Given the description of an element on the screen output the (x, y) to click on. 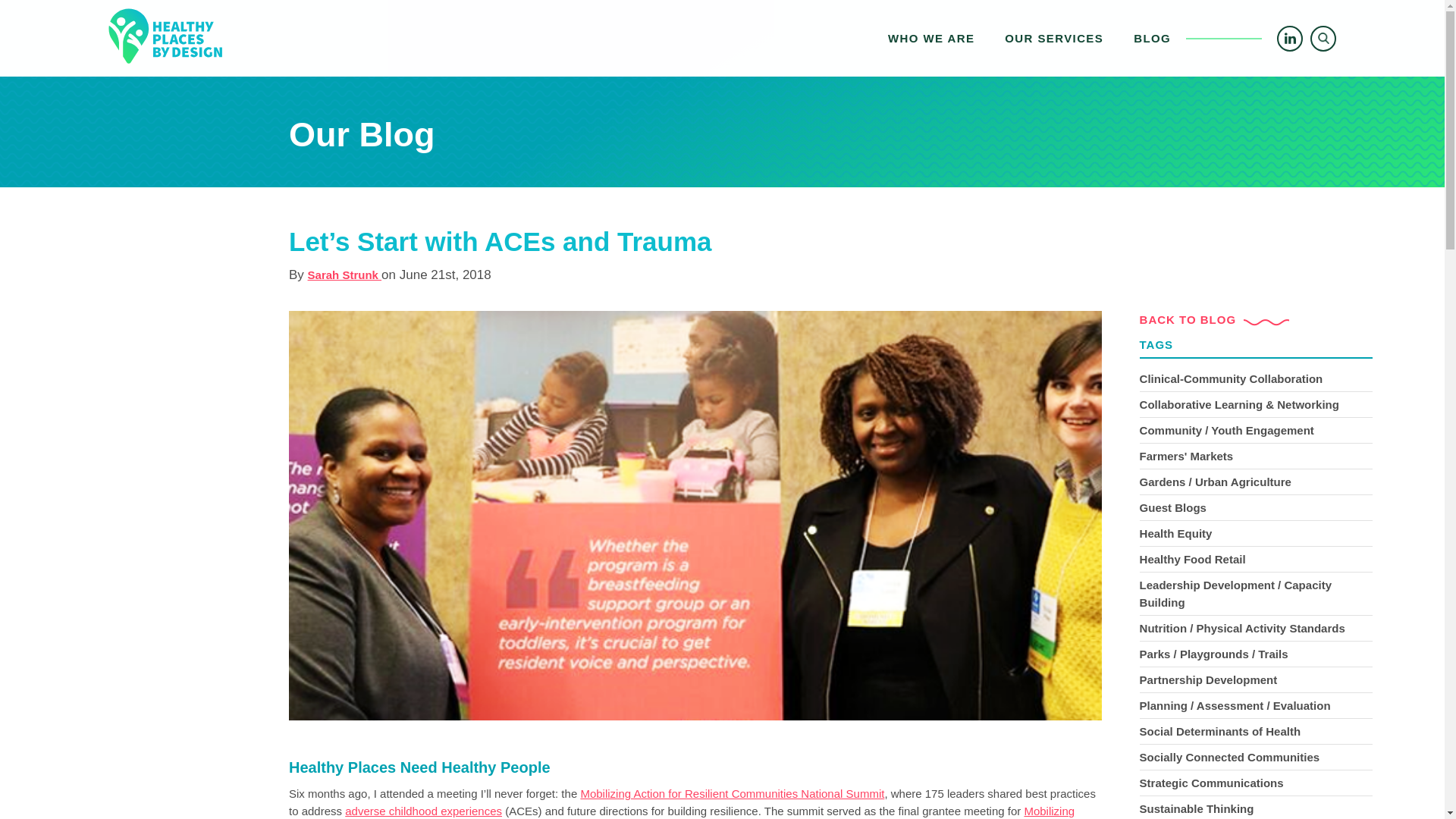
Social Determinants of Health Tag (1029, 38)
OUR SERVICES (1256, 731)
Sarah Strunk (1054, 38)
Sustainable Thinking Tag (344, 274)
adverse childhood experiences (1256, 807)
Socially Connected Communities Tag (423, 810)
WHO WE ARE (1256, 757)
Mobilizing Action for Resilient Communities (931, 38)
Clinical-Community Collaboration Tag (681, 811)
Partnership Development Tag (1256, 379)
Guest Blogs Tag (1256, 679)
BLOG (1029, 38)
Farmers (1256, 507)
